Given the description of an element on the screen output the (x, y) to click on. 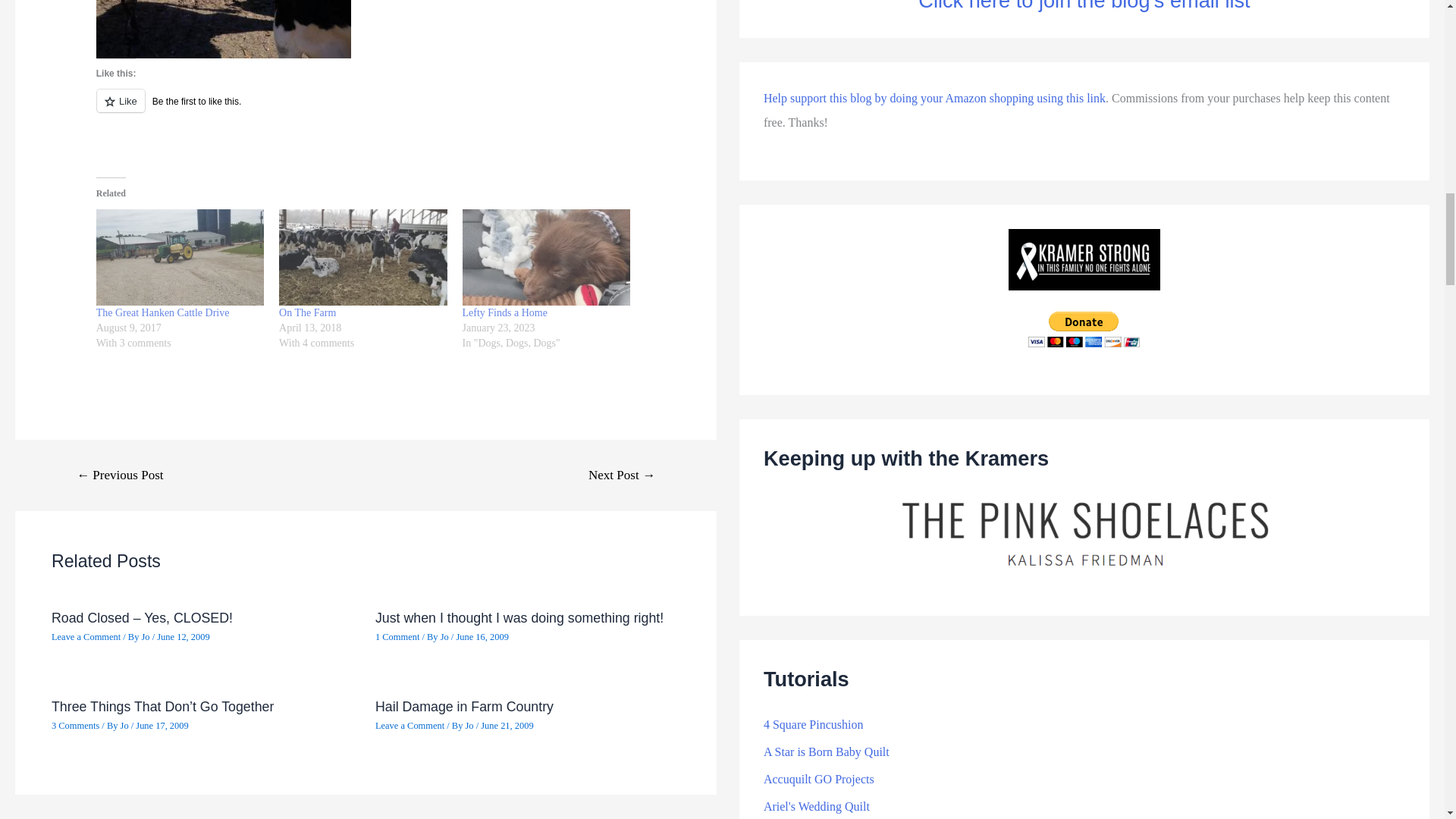
The Great Hanken Cattle Drive (179, 257)
On The Farm (307, 312)
The Great Hanken Cattle Drive (163, 312)
Cattle-2 (223, 29)
On The Farm (362, 257)
Lefty Finds a Home (546, 257)
Like or Reblog (366, 109)
